Given the description of an element on the screen output the (x, y) to click on. 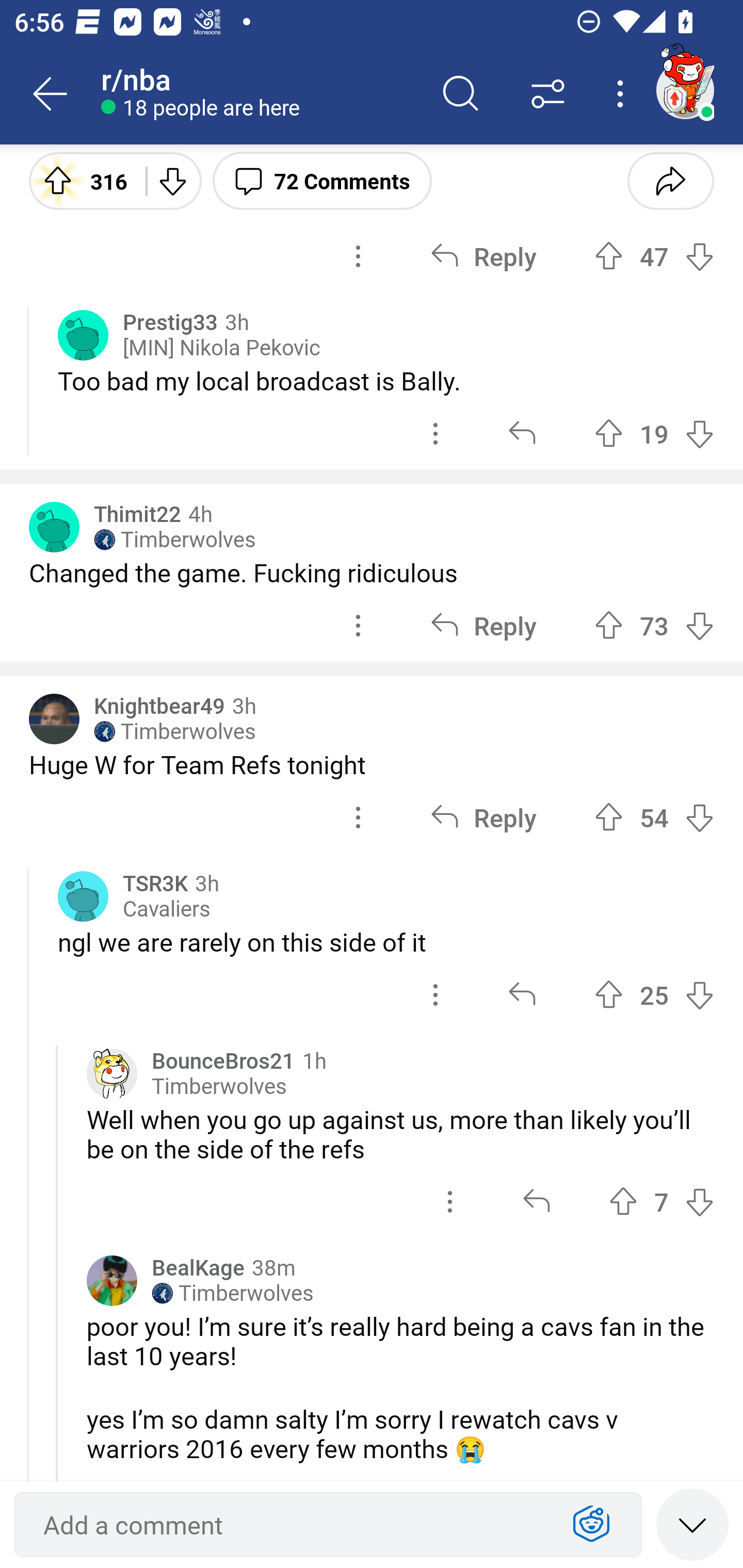
Back (50, 93)
TestAppium002 account (685, 90)
Search comments (460, 93)
Sort comments (547, 93)
More options (623, 93)
r/nba 18 people are here (259, 93)
Upvote 316 (79, 180)
Downvote (171, 180)
72 Comments (321, 180)
Share (670, 180)
options (358, 256)
Reply (483, 256)
Upvote 47 47 votes Downvote (654, 256)
Avatar (82, 335)
Too bad my local broadcast is Bally. (385, 380)
options (435, 434)
Upvote 19 19 votes Downvote (654, 434)
Avatar (53, 526)
￼ Timberwolves (174, 538)
Changed the game. Fucking ridiculous (371, 572)
options (358, 625)
Reply (483, 625)
Upvote 73 73 votes Downvote (654, 625)
Avatar (53, 718)
￼ Timberwolves (174, 731)
Huge W for Team Refs tonight (371, 763)
options (358, 816)
Reply (483, 816)
Upvote 54 54 votes Downvote (654, 816)
Avatar (82, 896)
Cavaliers (166, 908)
ngl we are rarely on this side of it (385, 942)
options (435, 995)
Upvote 25 25 votes Downvote (654, 995)
Custom avatar (111, 1073)
Timberwolves (219, 1086)
options (449, 1201)
Upvote 7 7 votes Downvote (661, 1201)
Avatar (111, 1280)
￼ Timberwolves (232, 1293)
Speed read (692, 1524)
Add a comment (291, 1524)
Show Expressions (590, 1524)
